Given the description of an element on the screen output the (x, y) to click on. 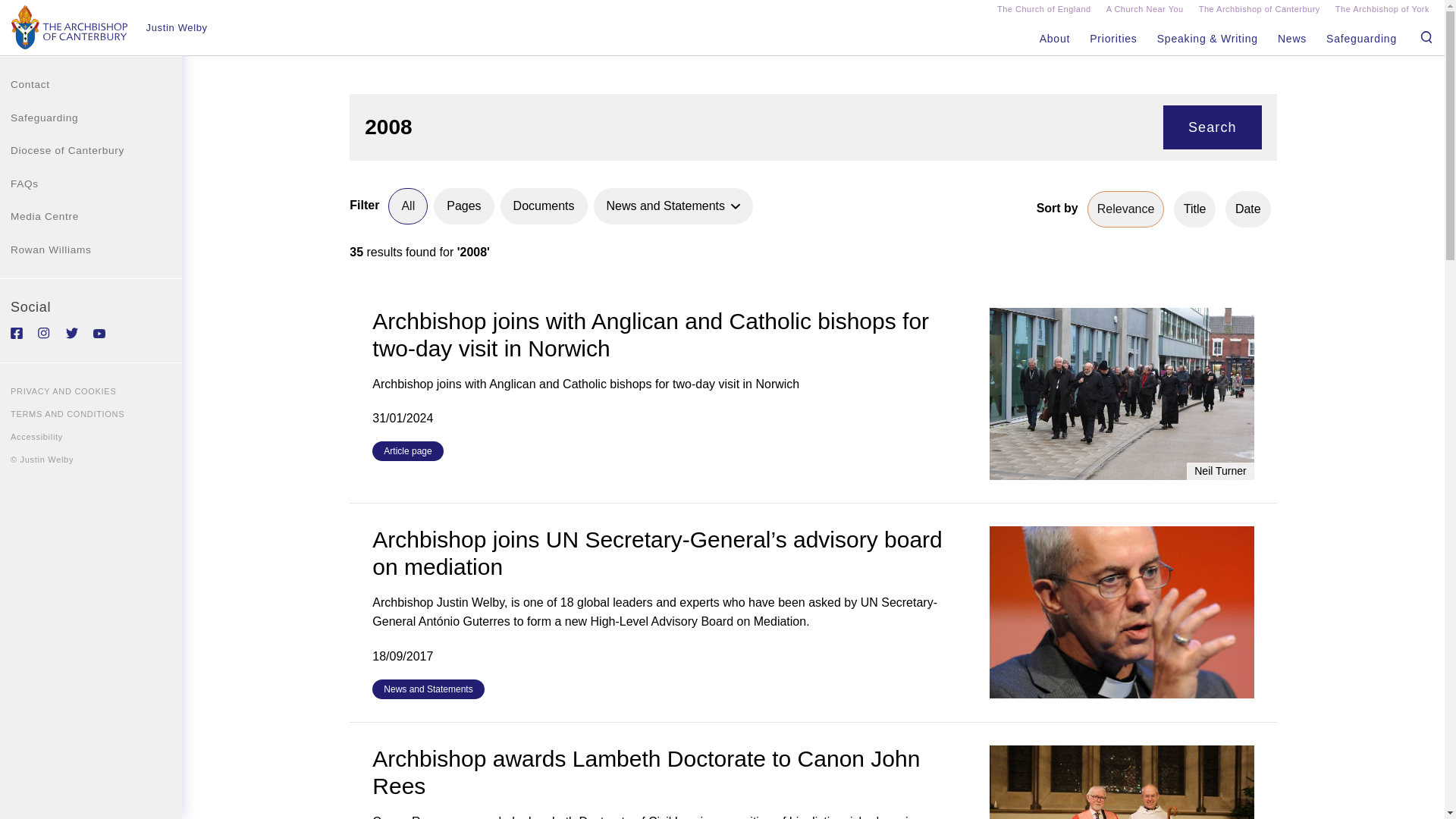
2008 (748, 127)
Home (69, 26)
Search (1212, 127)
The Archbishop of Canterbury (1259, 10)
The Church of England (1043, 10)
Details of our website accessibility (91, 436)
A Church Near You (1144, 10)
About (1055, 39)
The Archbishop of York (1382, 10)
